Given the description of an element on the screen output the (x, y) to click on. 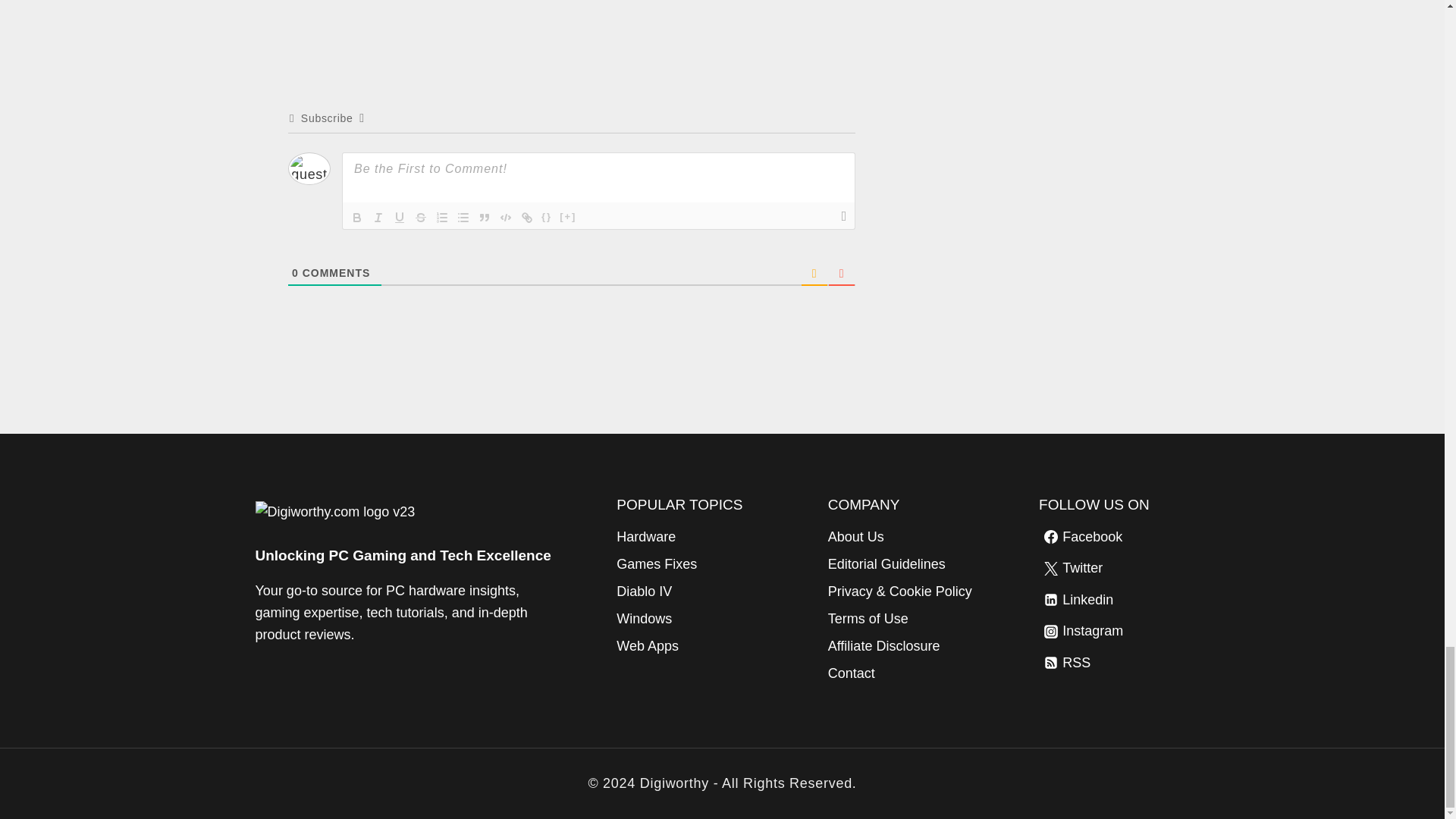
Unordered List (463, 217)
Code Block (505, 217)
Strike (420, 217)
Italic (378, 217)
Bold (357, 217)
Underline (399, 217)
Blockquote (484, 217)
Ordered List (441, 217)
